Given the description of an element on the screen output the (x, y) to click on. 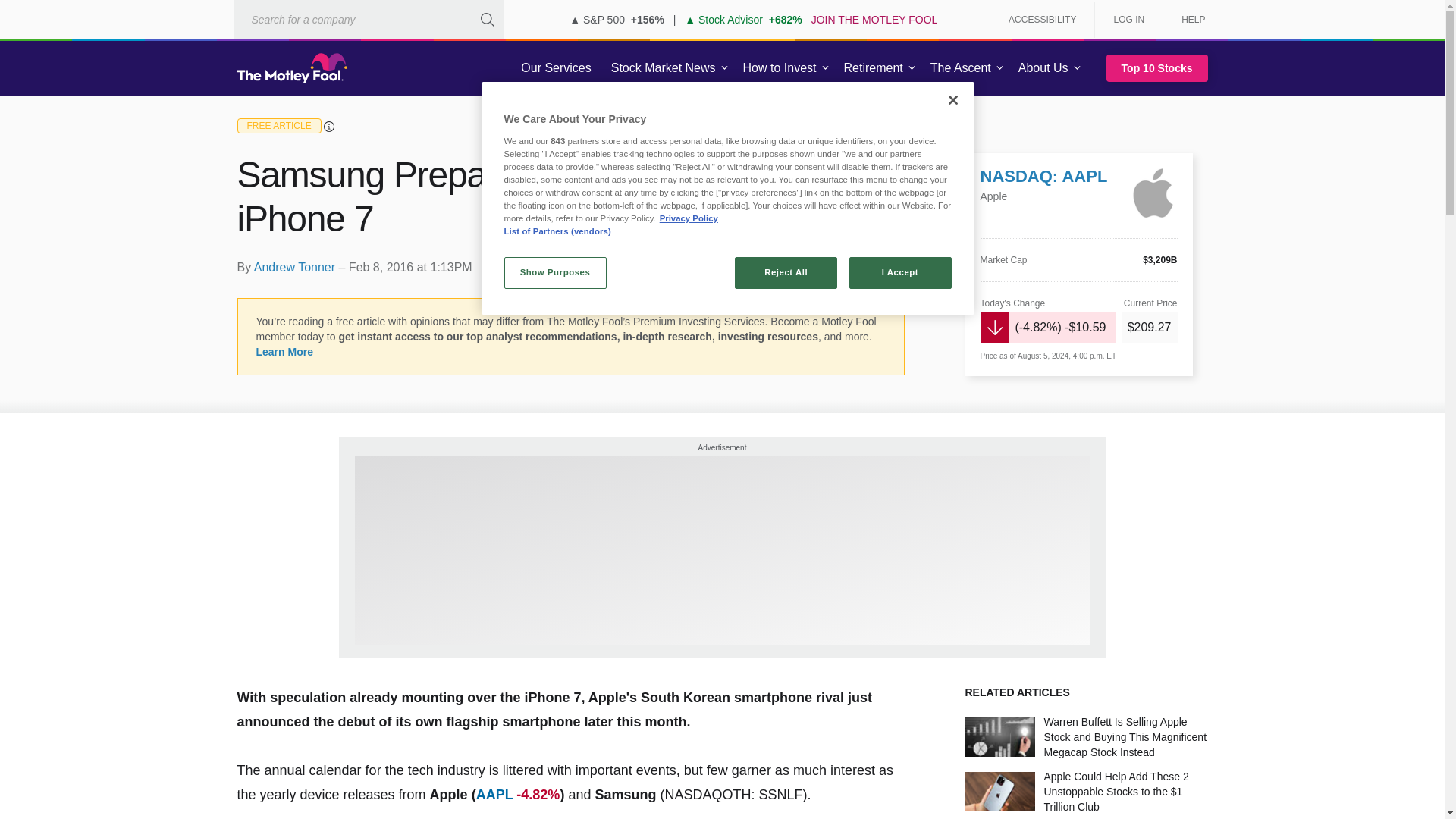
ACCESSIBILITY (1042, 19)
HELP (1187, 19)
How to Invest (779, 67)
LOG IN (1128, 19)
Our Services (555, 67)
Stock Market News (662, 67)
